Given the description of an element on the screen output the (x, y) to click on. 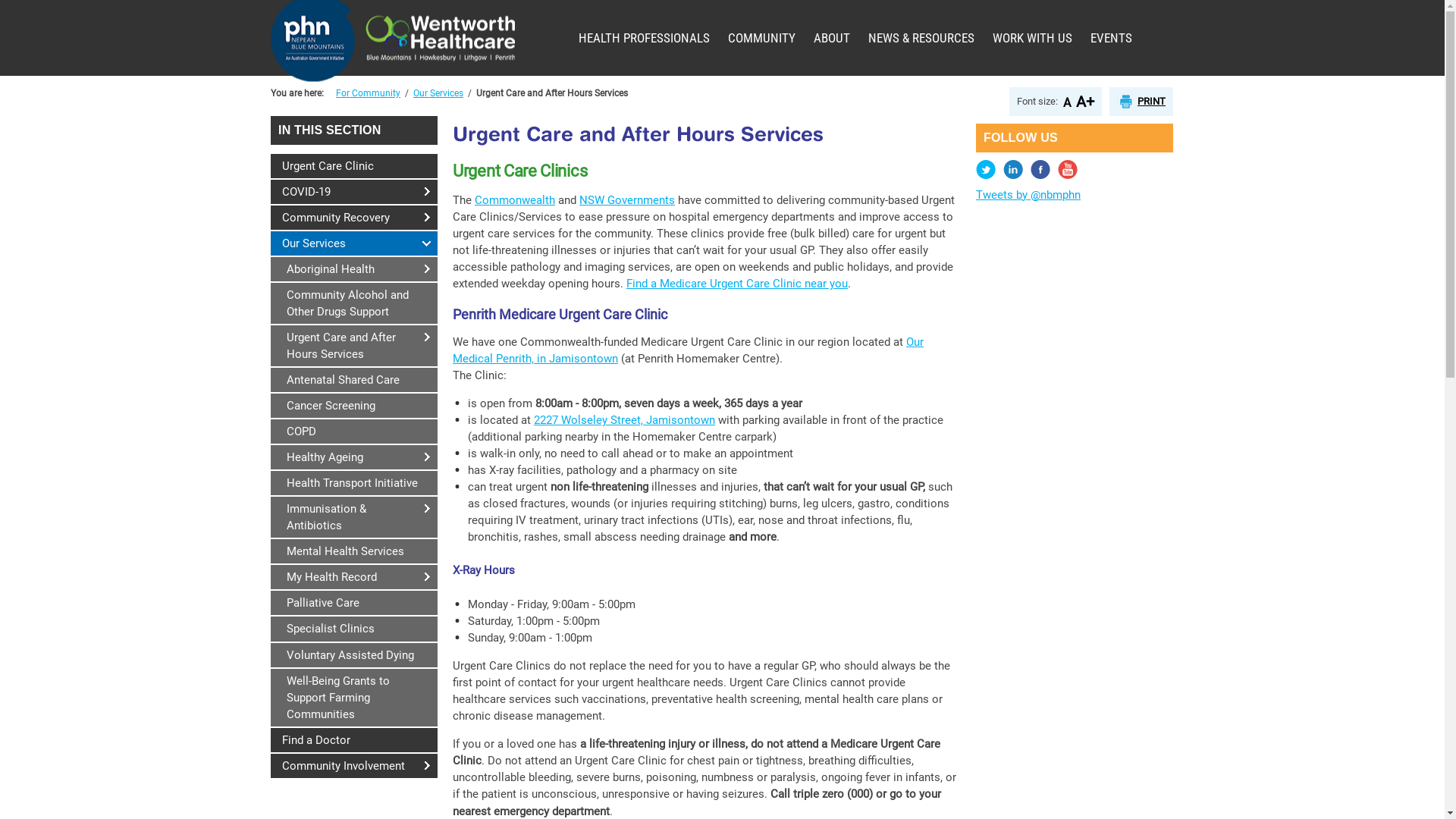
NSW Governments Element type: text (626, 200)
Palliative Care Element type: text (353, 602)
A+ Element type: text (1085, 101)
Our Medical Penrith, in Jamisontown Element type: text (687, 350)
COVID-19 Element type: text (353, 191)
WORK WITH US Element type: text (1032, 38)
My Health Record Element type: text (353, 576)
Community Involvement Element type: text (353, 765)
Commonwealth Element type: text (514, 200)
Our Services Element type: text (438, 92)
A Element type: text (1066, 101)
Healthy Ageing Element type: text (353, 457)
Urgent Care Clinic Element type: text (353, 165)
PRINT Element type: text (1141, 101)
EVENTS Element type: text (1111, 38)
Well-Being Grants to Support Farming Communities Element type: text (353, 697)
Community Recovery Element type: text (353, 217)
Mental Health Services Element type: text (353, 551)
Aboriginal Health Element type: text (353, 269)
NEWS & RESOURCES Element type: text (921, 38)
Specialist Clinics Element type: text (353, 628)
Antenatal Shared Care Element type: text (353, 379)
Health Transport Initiative Element type: text (353, 482)
For Community Element type: text (367, 92)
Our Services Element type: text (353, 243)
Immunisation & Antibiotics Element type: text (353, 516)
HEALTH PROFESSIONALS Element type: text (643, 38)
Find a Medicare Urgent Care Clinic near you Element type: text (736, 283)
Urgent Care and After Hours Services Element type: text (353, 345)
Tweets by @nbmphn Element type: text (1027, 194)
Find a Doctor Element type: text (353, 740)
2227 Wolseley Street, Jamisontown Element type: text (624, 419)
ABOUT Element type: text (831, 38)
Community Alcohol and Other Drugs Support Element type: text (353, 302)
Cancer Screening Element type: text (353, 405)
COMMUNITY Element type: text (761, 38)
Voluntary Assisted Dying Element type: text (353, 655)
COPD Element type: text (353, 431)
